Given the description of an element on the screen output the (x, y) to click on. 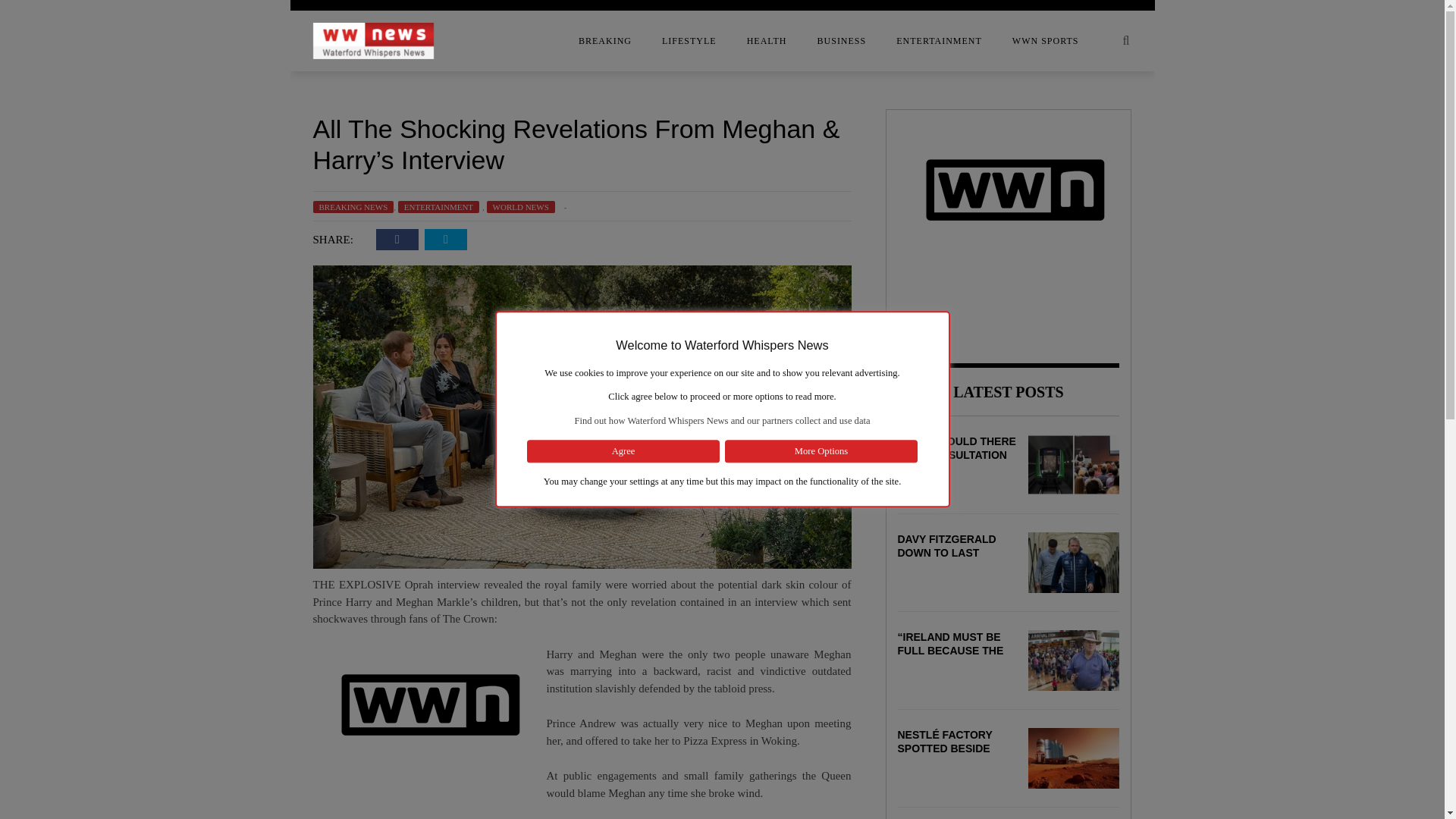
PRIVACY (191, 237)
CONTACT US (191, 116)
DISCLAIMER (191, 146)
NEWSLETTER SIGN UP FORM (191, 207)
COMPETITION RULES (191, 86)
YOUR PRIVACY SETTINGS (191, 268)
HOMEPAGE (191, 177)
BREAKING (604, 40)
